Given the description of an element on the screen output the (x, y) to click on. 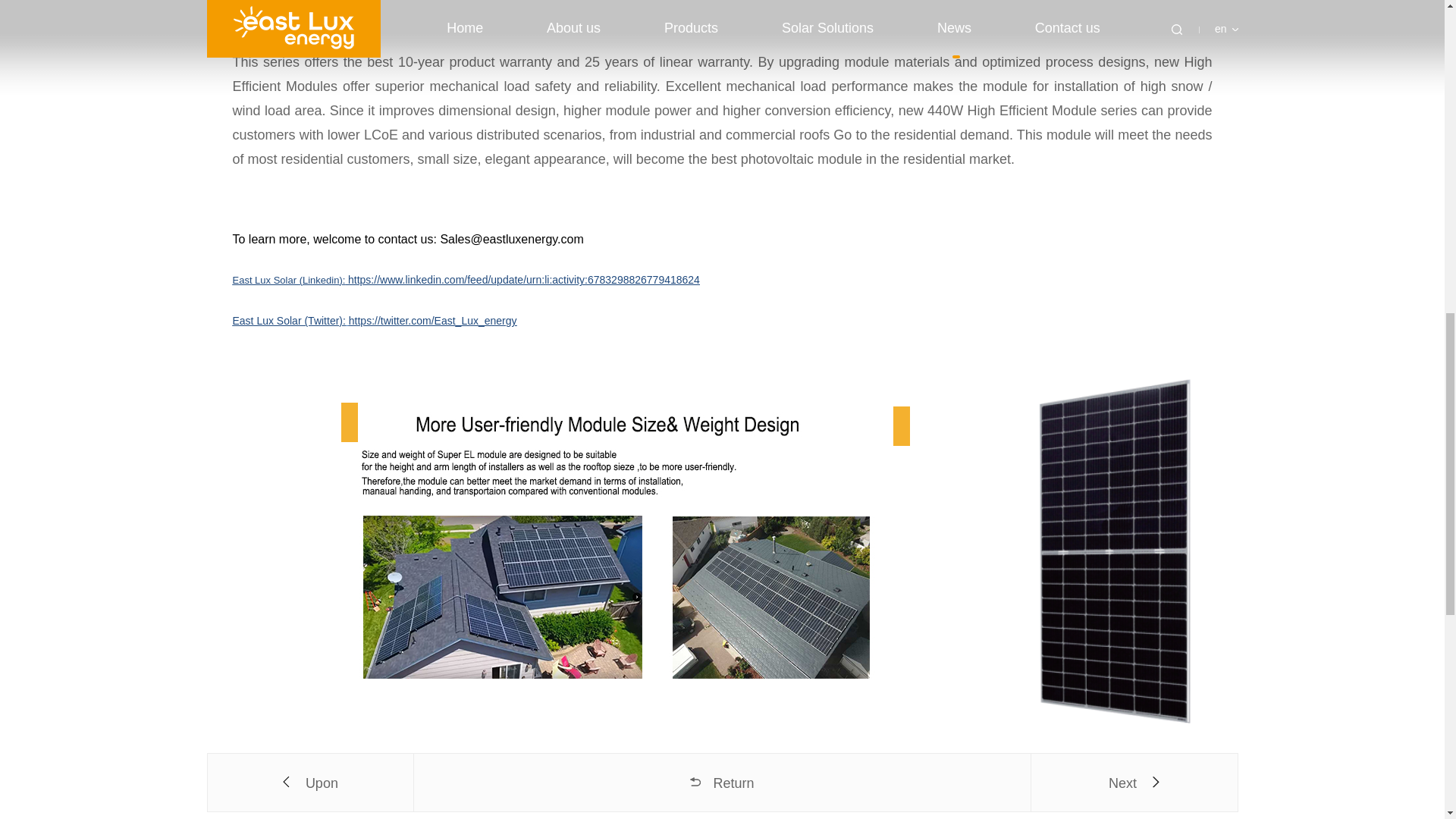
Return (721, 782)
Upon (310, 782)
EastLux Solar Panel (373, 320)
